Given the description of an element on the screen output the (x, y) to click on. 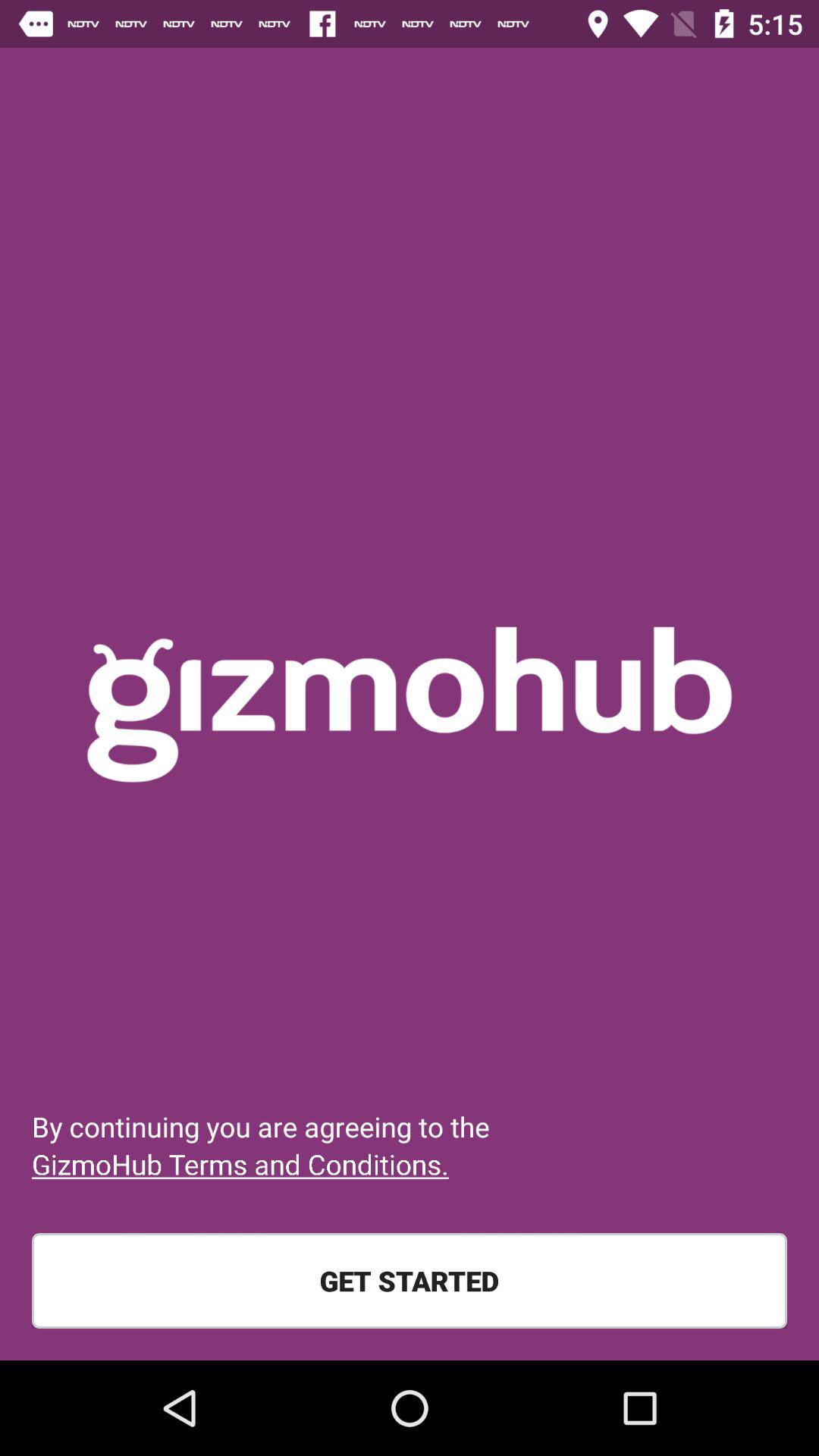
launch gizmohub terms and item (239, 1164)
